Given the description of an element on the screen output the (x, y) to click on. 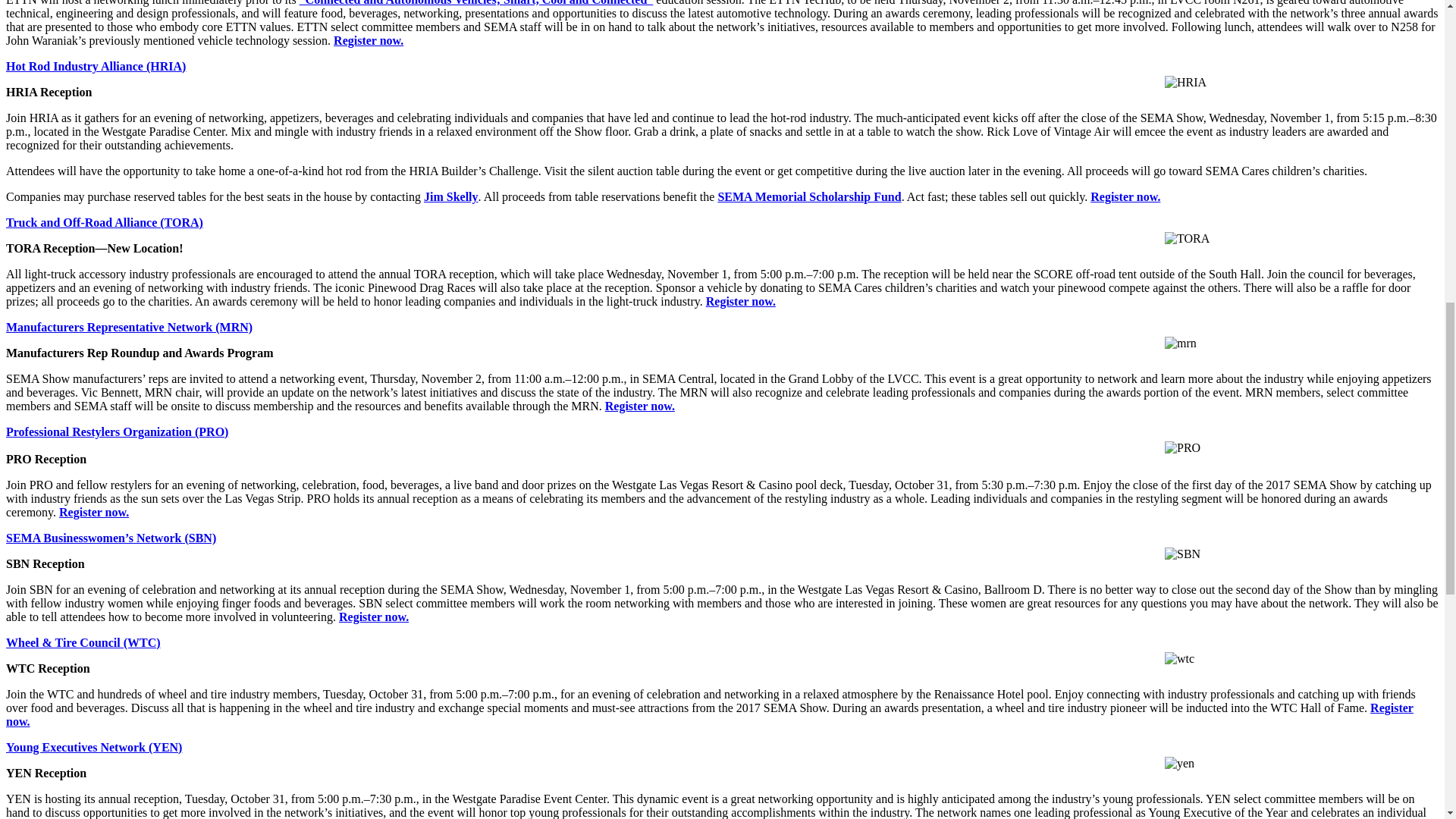
yen (1178, 763)
Register now. (368, 40)
mrn (1180, 343)
HRIA (1185, 82)
Register now. (1125, 196)
wtc (1178, 658)
Jim Skelly (451, 196)
TORA (1186, 238)
PRO (1181, 448)
SBN (1181, 554)
